Given the description of an element on the screen output the (x, y) to click on. 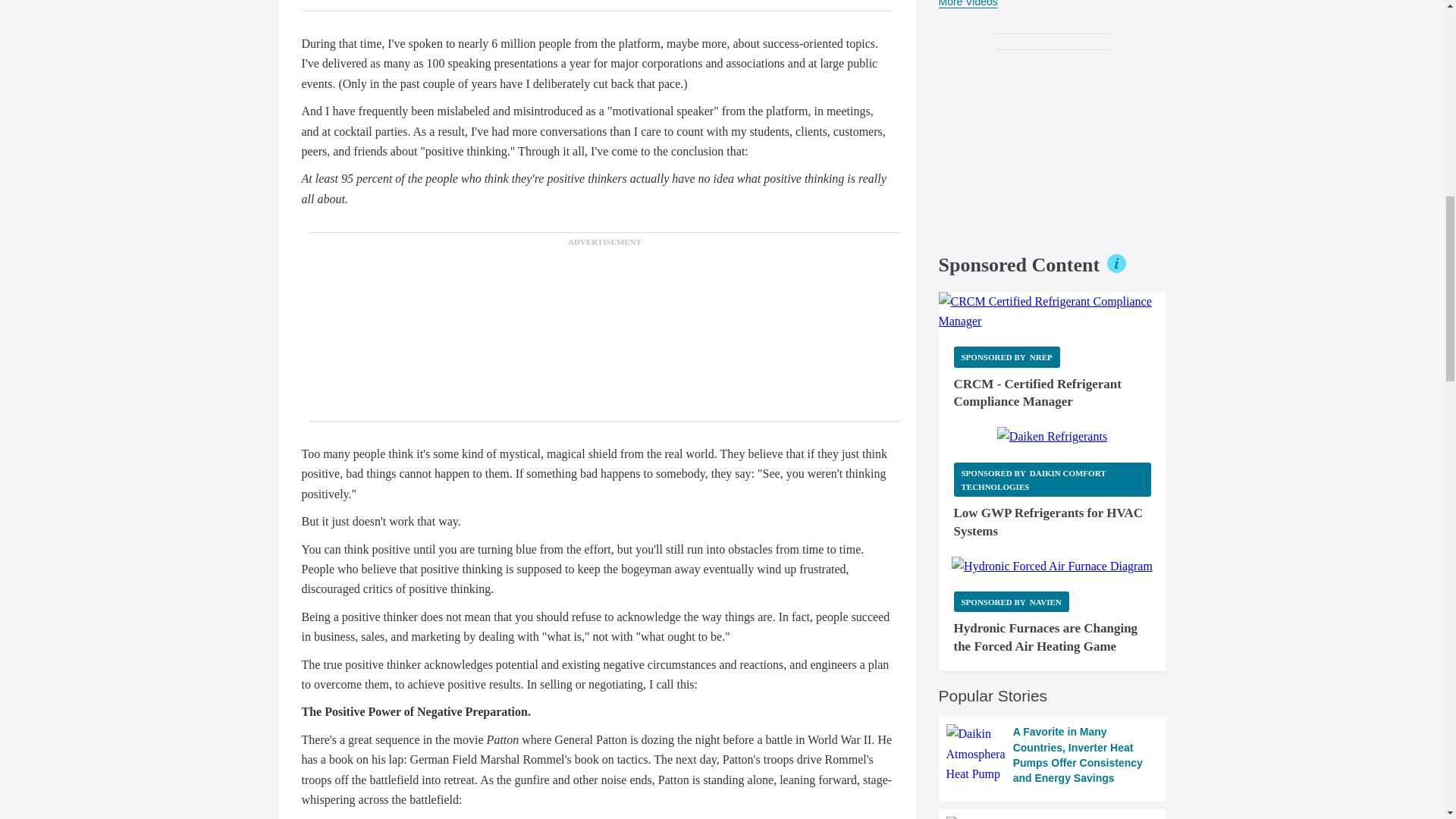
Daiken Refrigerants (1051, 436)
Sponsored by Daikin Comfort Technologies (1052, 479)
A2L Refrigerant Cylinders in Hot Trucks (1052, 817)
Hydronic Forced Air Furnace Diagram (1052, 566)
Sponsored by NREP (1006, 356)
Sponsored by Navien (1010, 601)
CRCM Certified Refrigerant Compliance Manager (1052, 311)
